Given the description of an element on the screen output the (x, y) to click on. 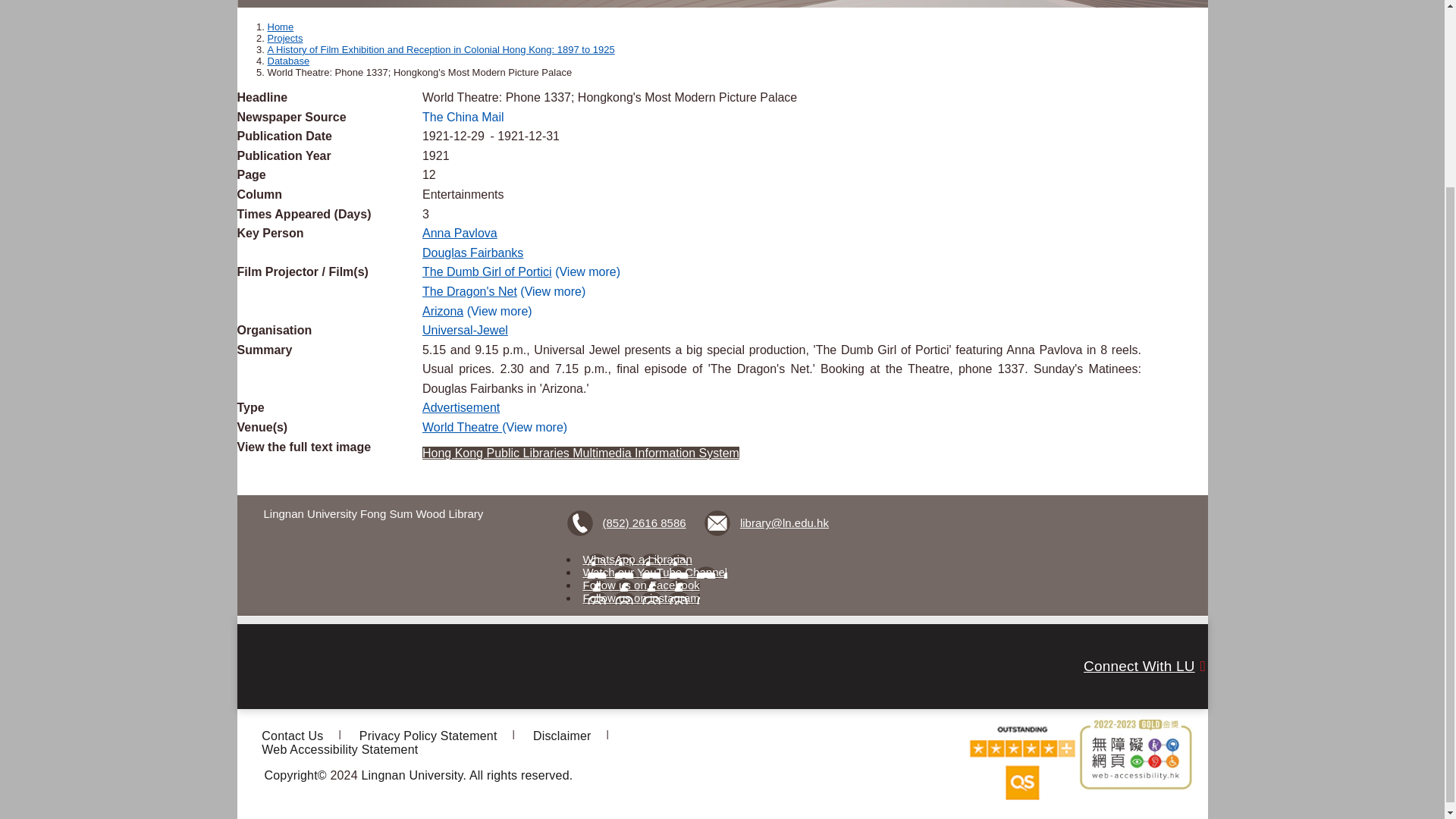
Follow us on instagram (641, 597)
Watch our YouTube Channel (655, 571)
Follow us on Facebook (641, 584)
WhatsApp a Librarian (638, 558)
Email (766, 523)
World Theatre (462, 427)
Phone Number (629, 523)
